Given the description of an element on the screen output the (x, y) to click on. 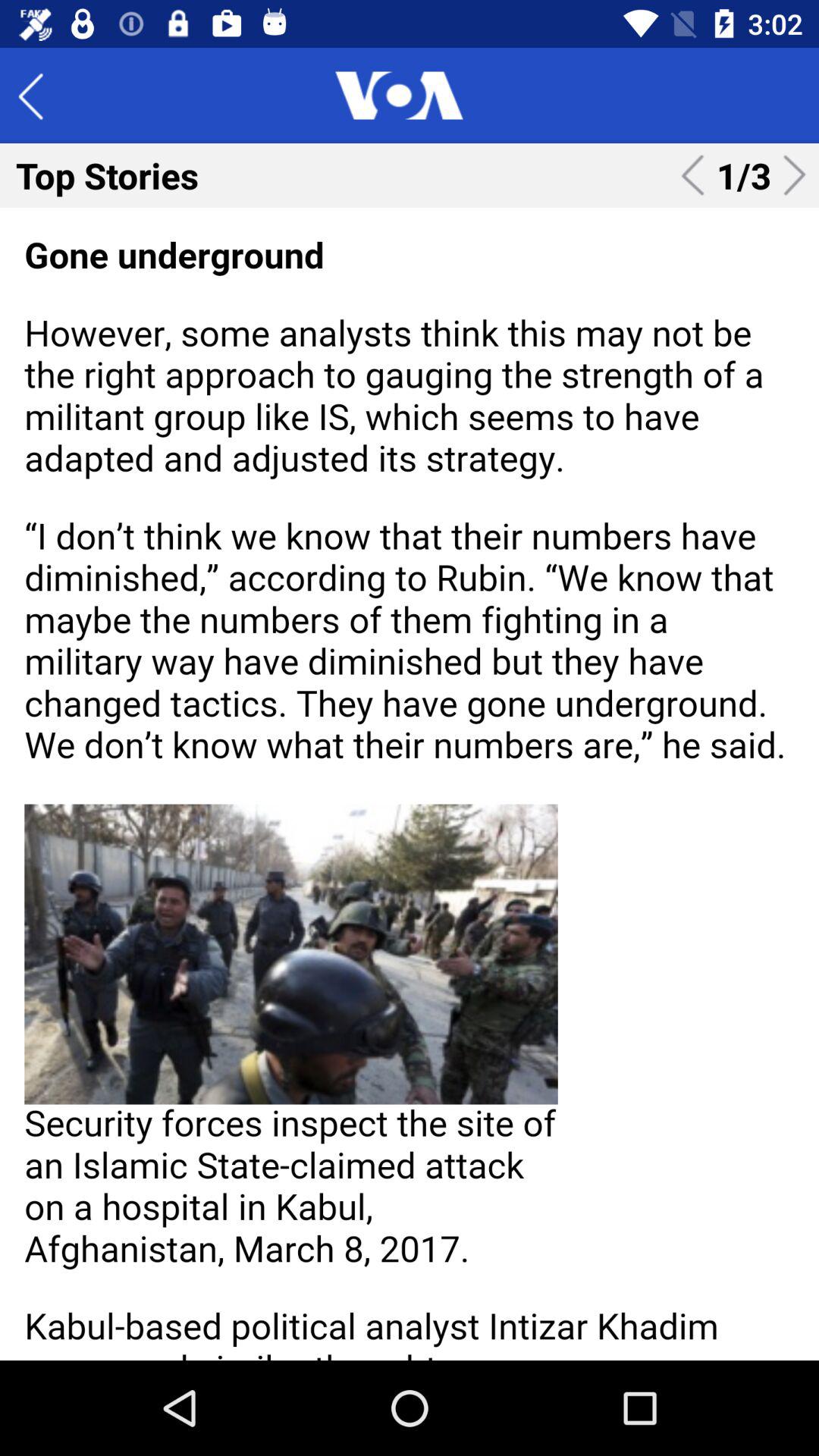
scroll down article (409, 783)
